Given the description of an element on the screen output the (x, y) to click on. 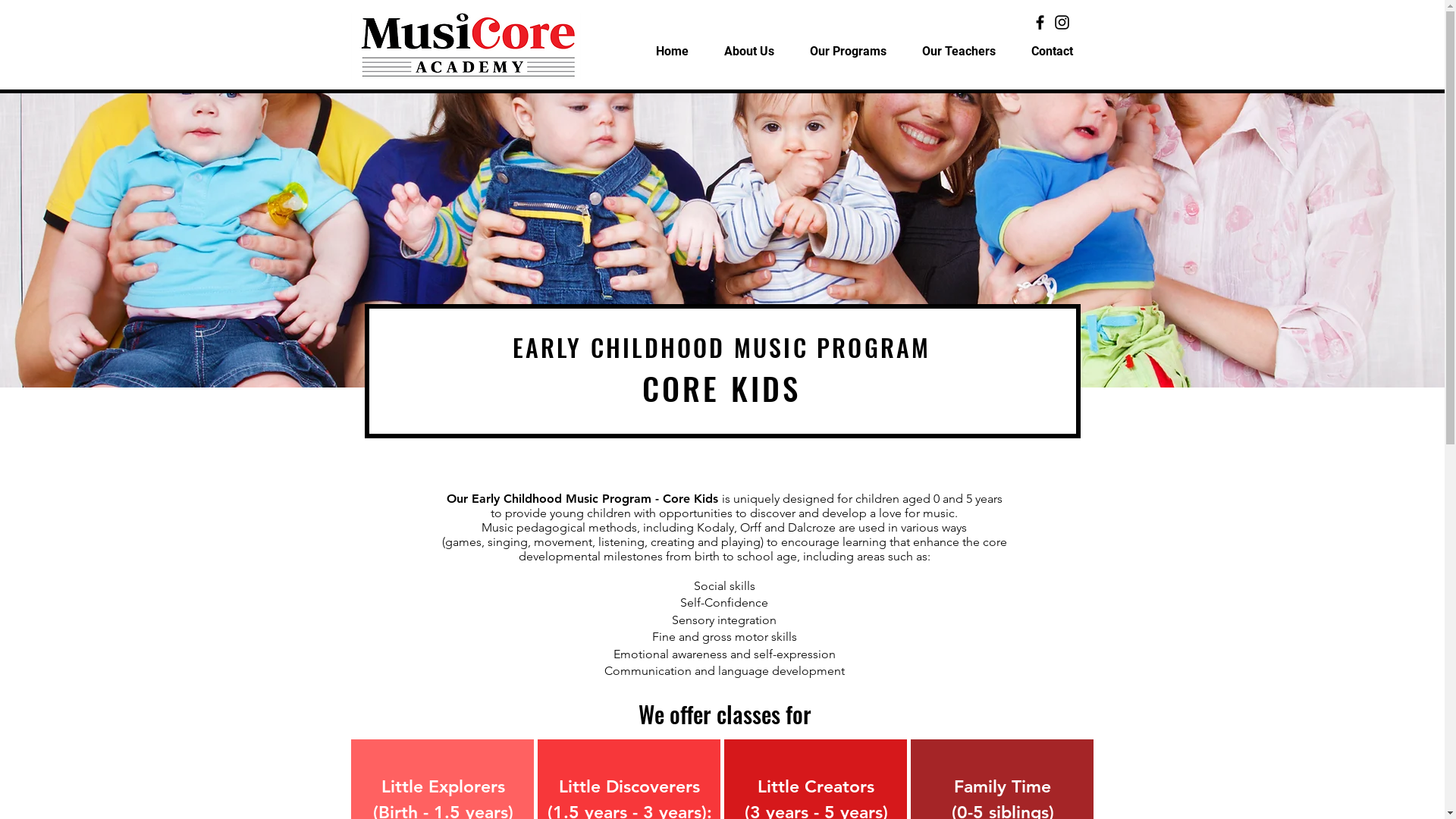
About Us Element type: text (749, 51)
Home Element type: text (672, 51)
Our Teachers Element type: text (958, 51)
Our Programs Element type: text (847, 51)
Contact Element type: text (1051, 51)
